Given the description of an element on the screen output the (x, y) to click on. 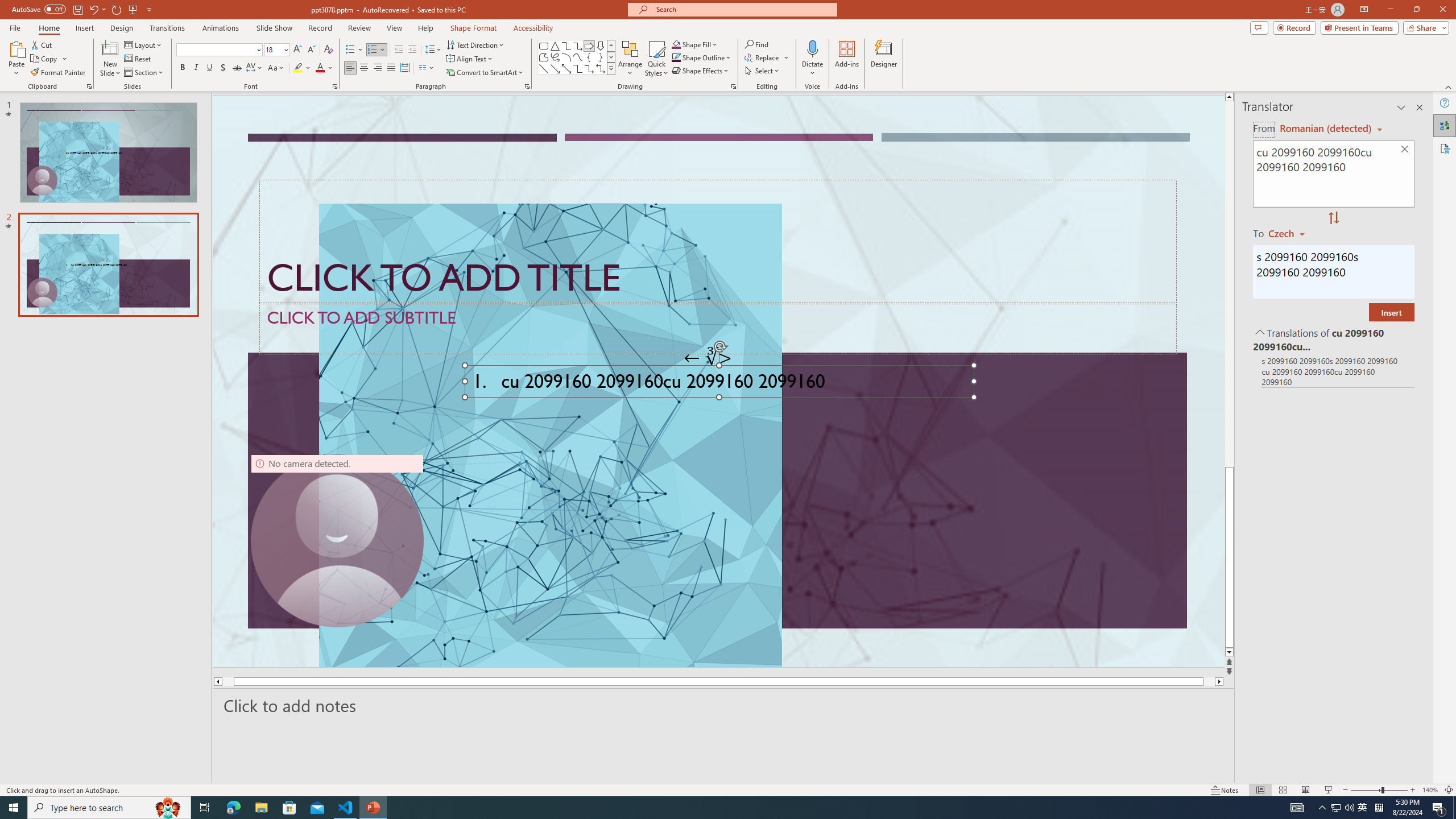
Translations of cu 2099160 2099160cu 2099160 2099160 (1333, 338)
TextBox 7 (708, 357)
